Given the description of an element on the screen output the (x, y) to click on. 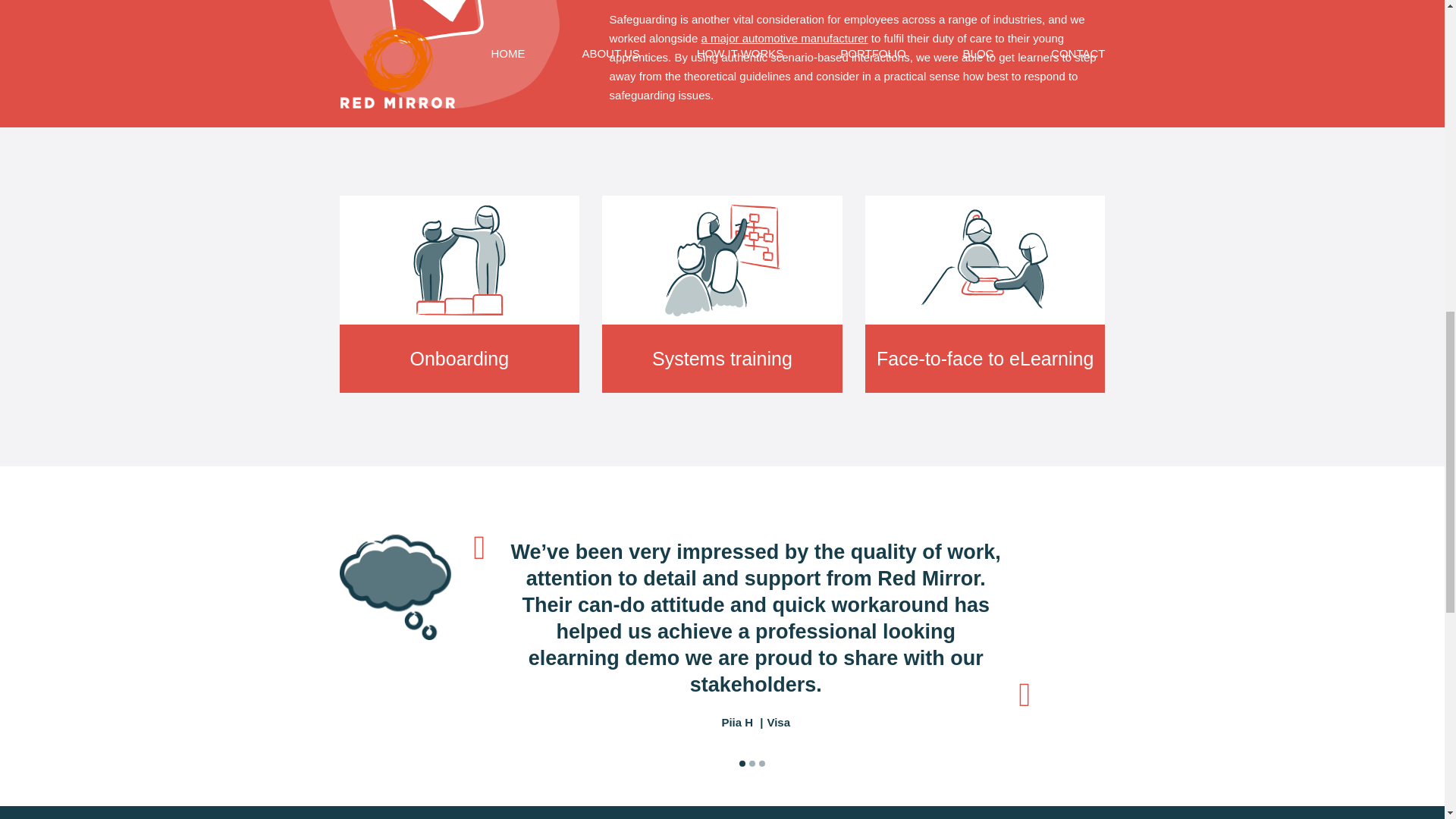
2 (752, 763)
Systems training (722, 294)
Face-to-face to eLearning (984, 294)
Onboarding (459, 294)
a major automotive manufacturer (783, 38)
1 (742, 763)
3 (761, 763)
